Given the description of an element on the screen output the (x, y) to click on. 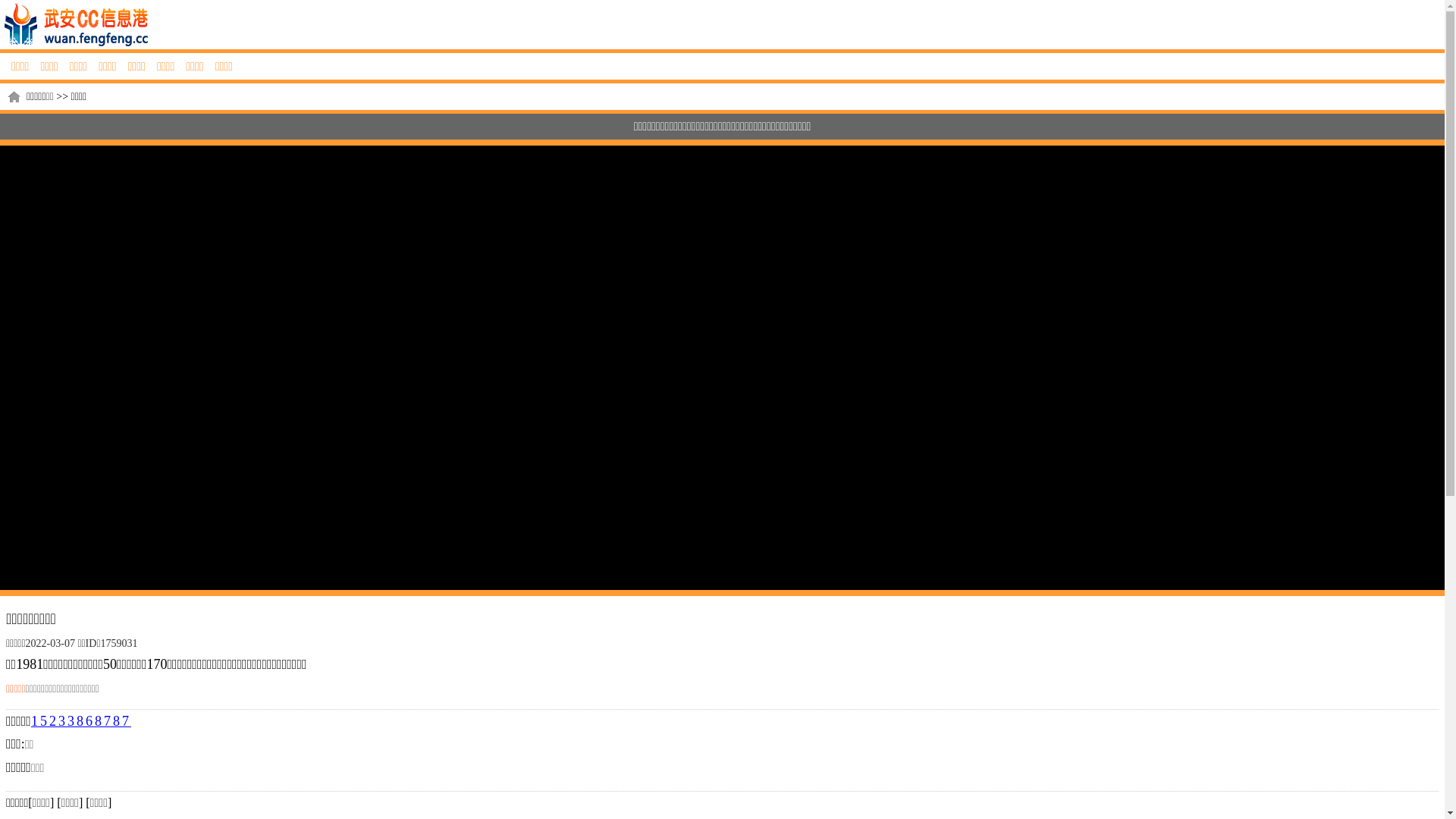
15233868787 Element type: text (81, 720)
